Given the description of an element on the screen output the (x, y) to click on. 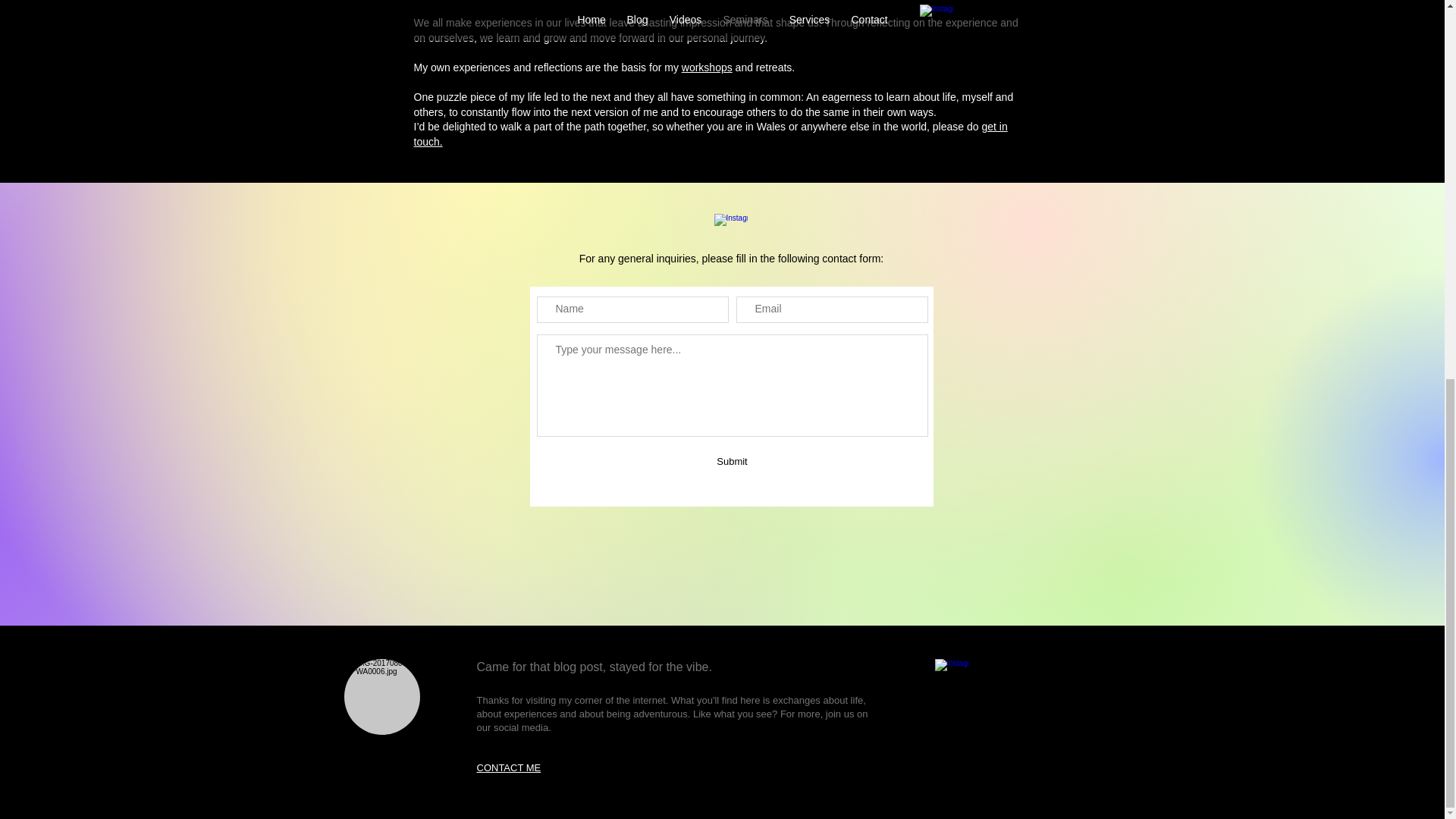
Submit (732, 461)
get in touch. (710, 134)
workshops (706, 67)
CONTACT ME (508, 767)
